Given the description of an element on the screen output the (x, y) to click on. 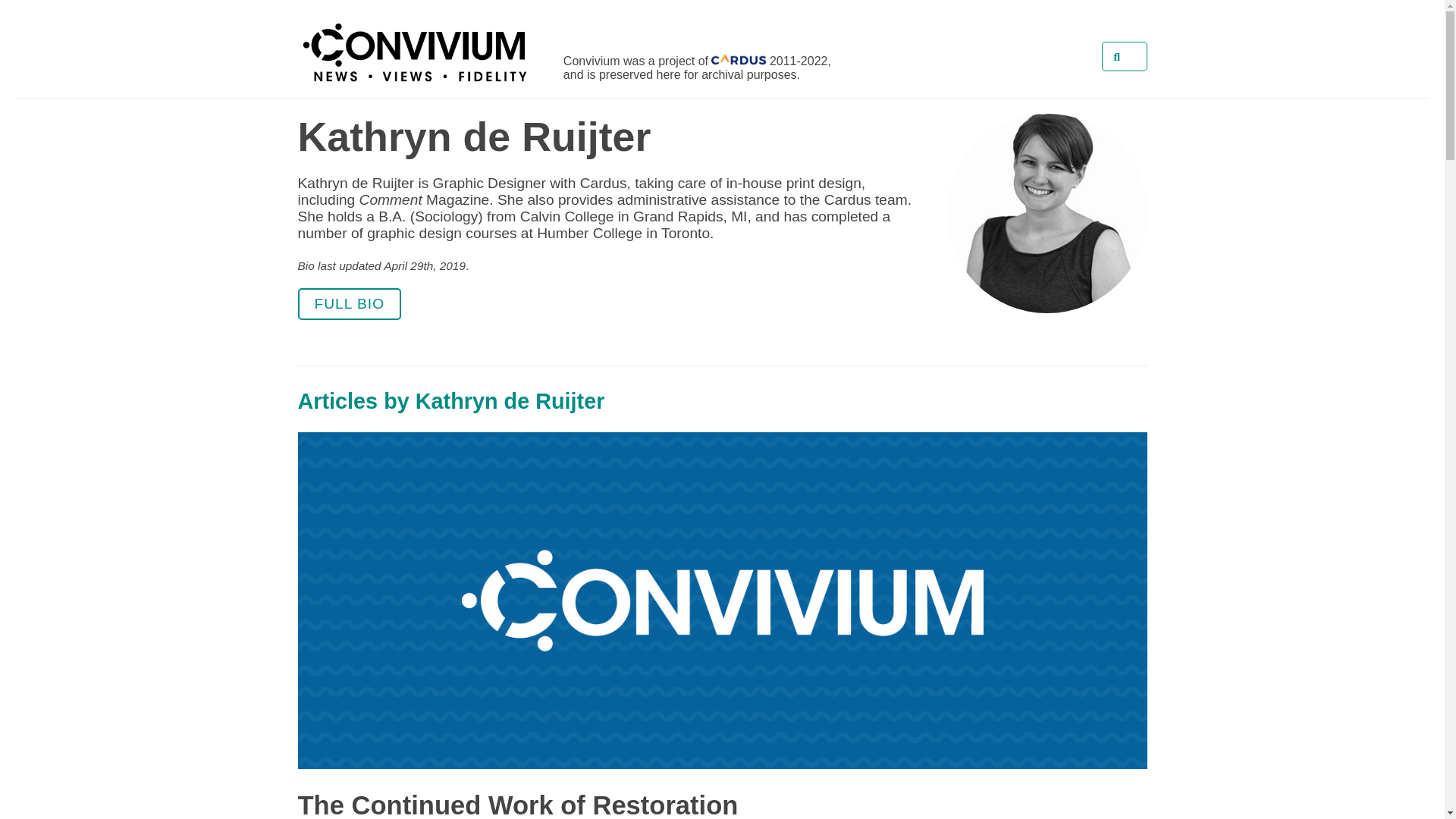
The Continued Work of Restoration (517, 805)
FULL BIO (349, 304)
